Given the description of an element on the screen output the (x, y) to click on. 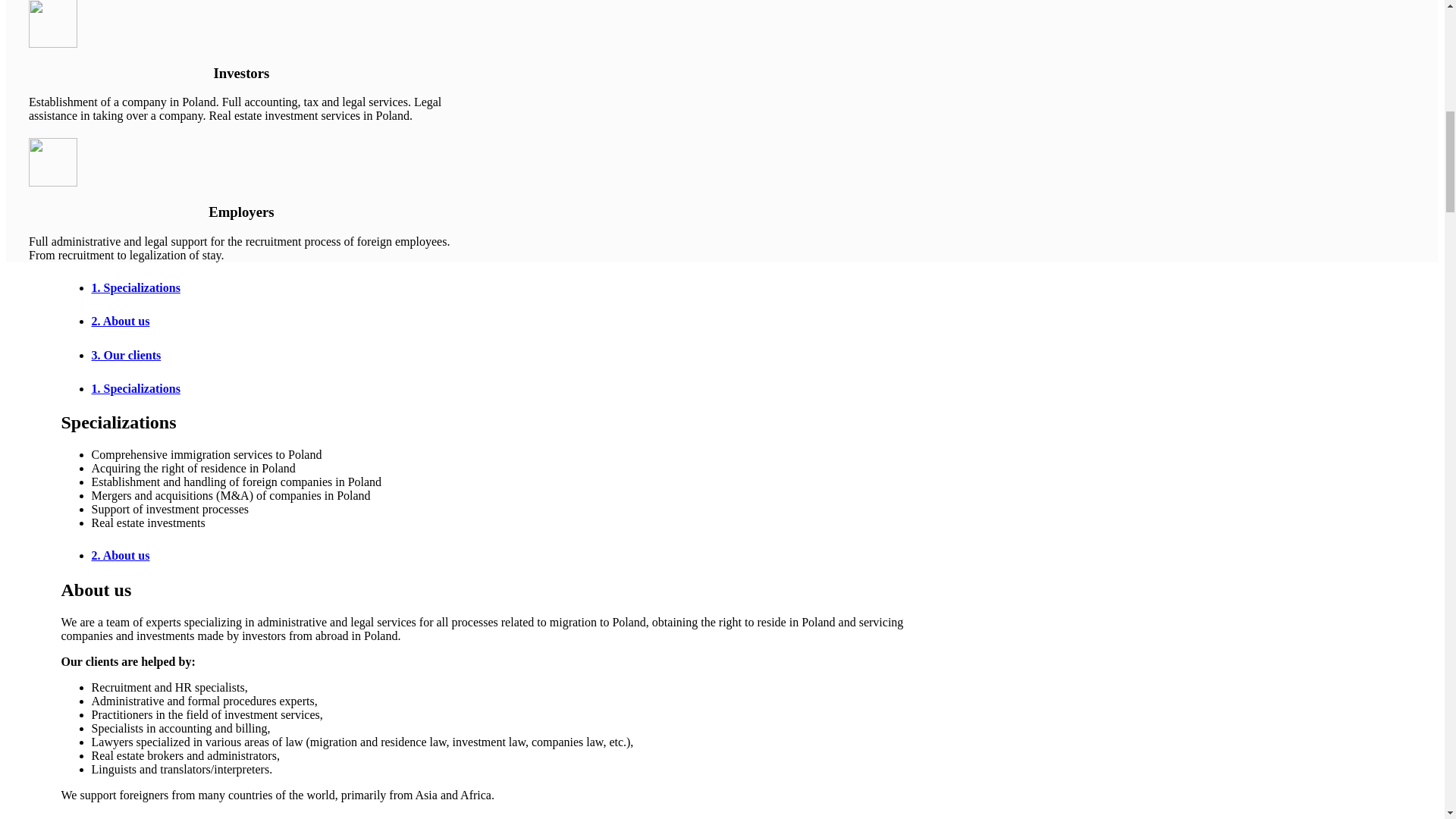
2. About us (507, 320)
3. Our clients (507, 354)
2. About us (507, 554)
employee (53, 162)
investor (53, 23)
1. Specializations (507, 286)
1. Specializations (507, 387)
